Given the description of an element on the screen output the (x, y) to click on. 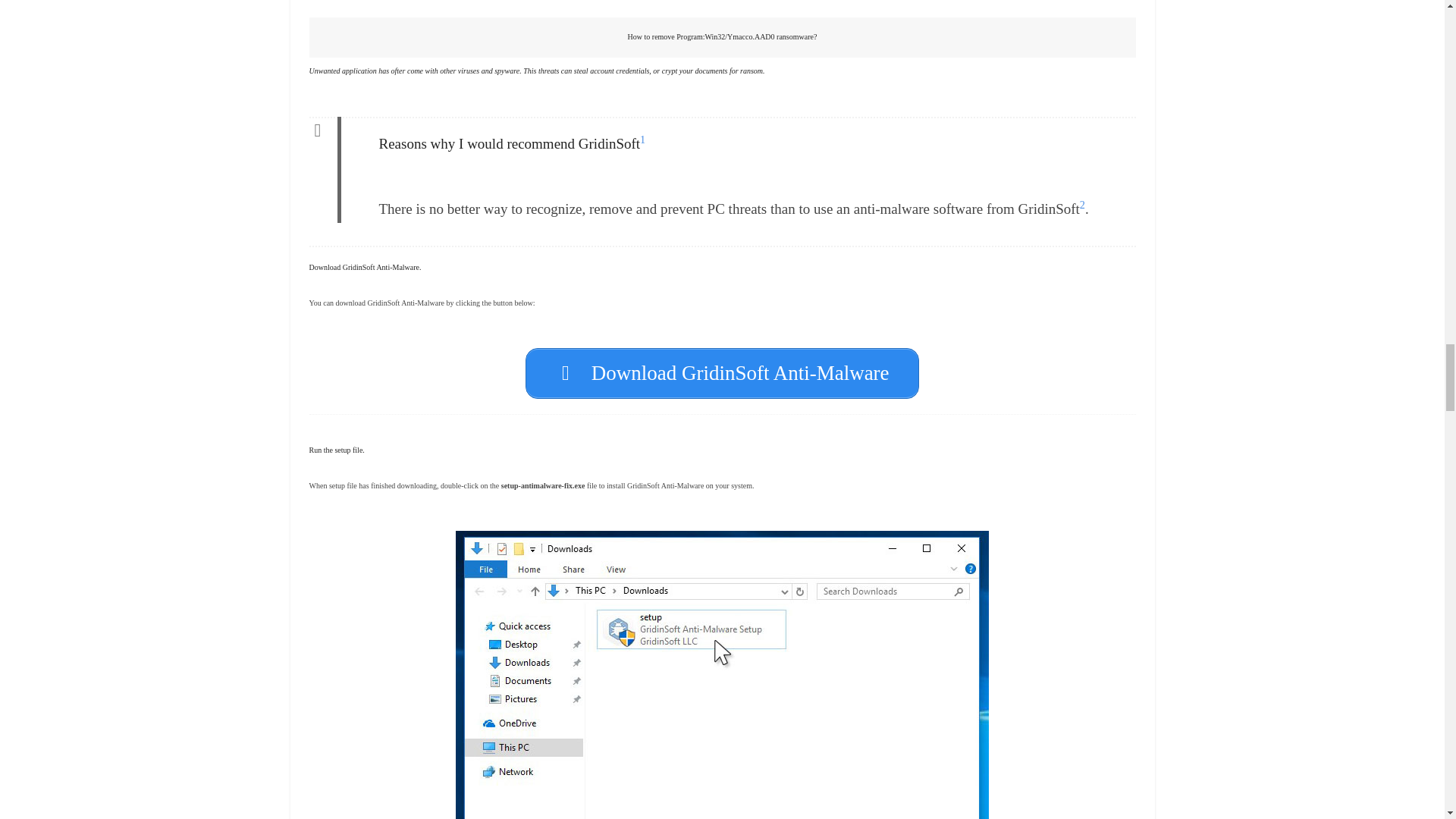
Download GridinSoft Anti-Malware (721, 373)
